Given the description of an element on the screen output the (x, y) to click on. 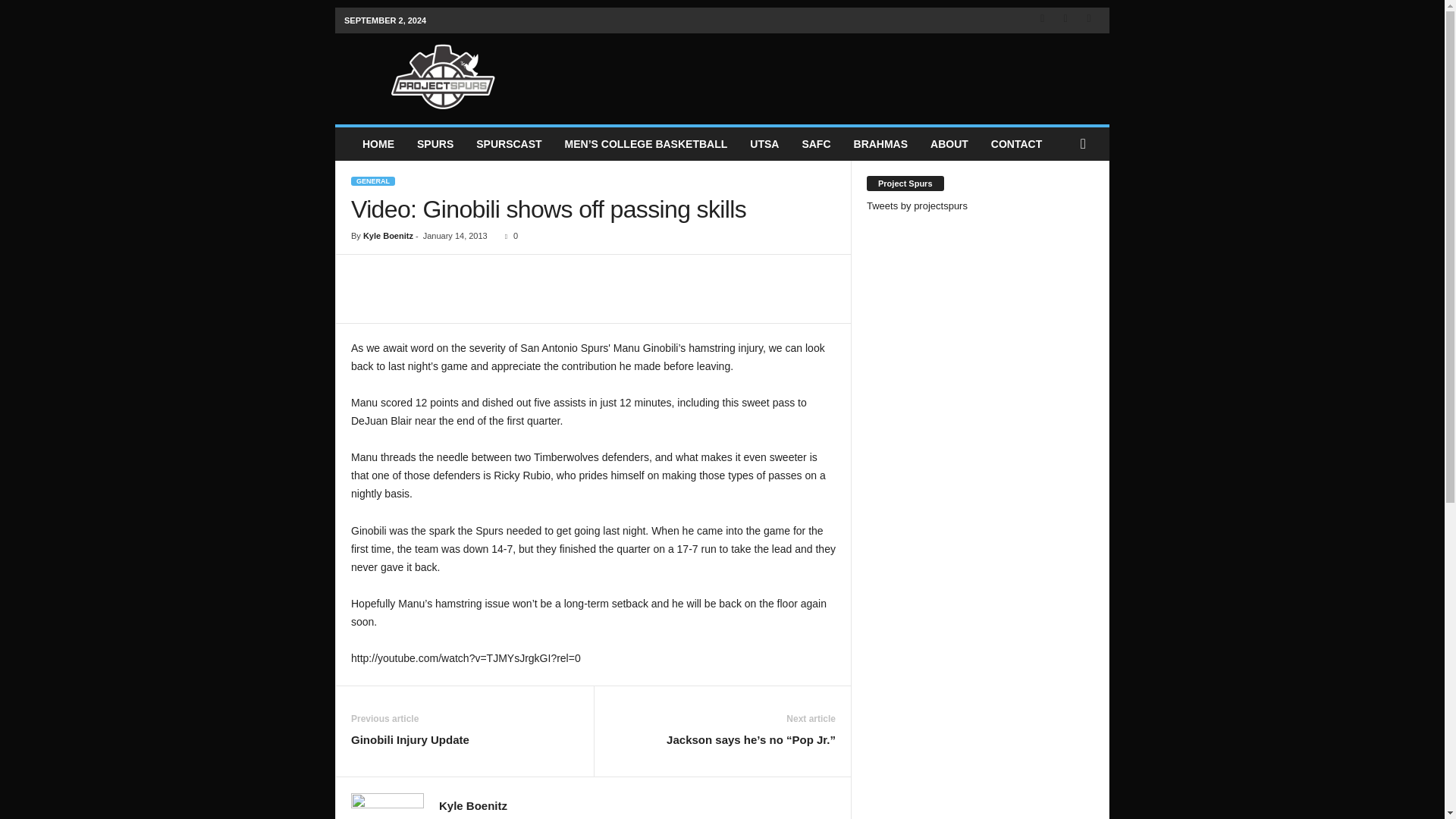
CONTACT (1015, 143)
Project Spurs (442, 74)
Project Spurs (442, 74)
SPURSCAST (508, 143)
Ginobili Injury Update (409, 739)
BRAHMAS (881, 143)
0 (508, 235)
Kyle Boenitz (387, 235)
SPURS (435, 143)
SAFC (815, 143)
